Given the description of an element on the screen output the (x, y) to click on. 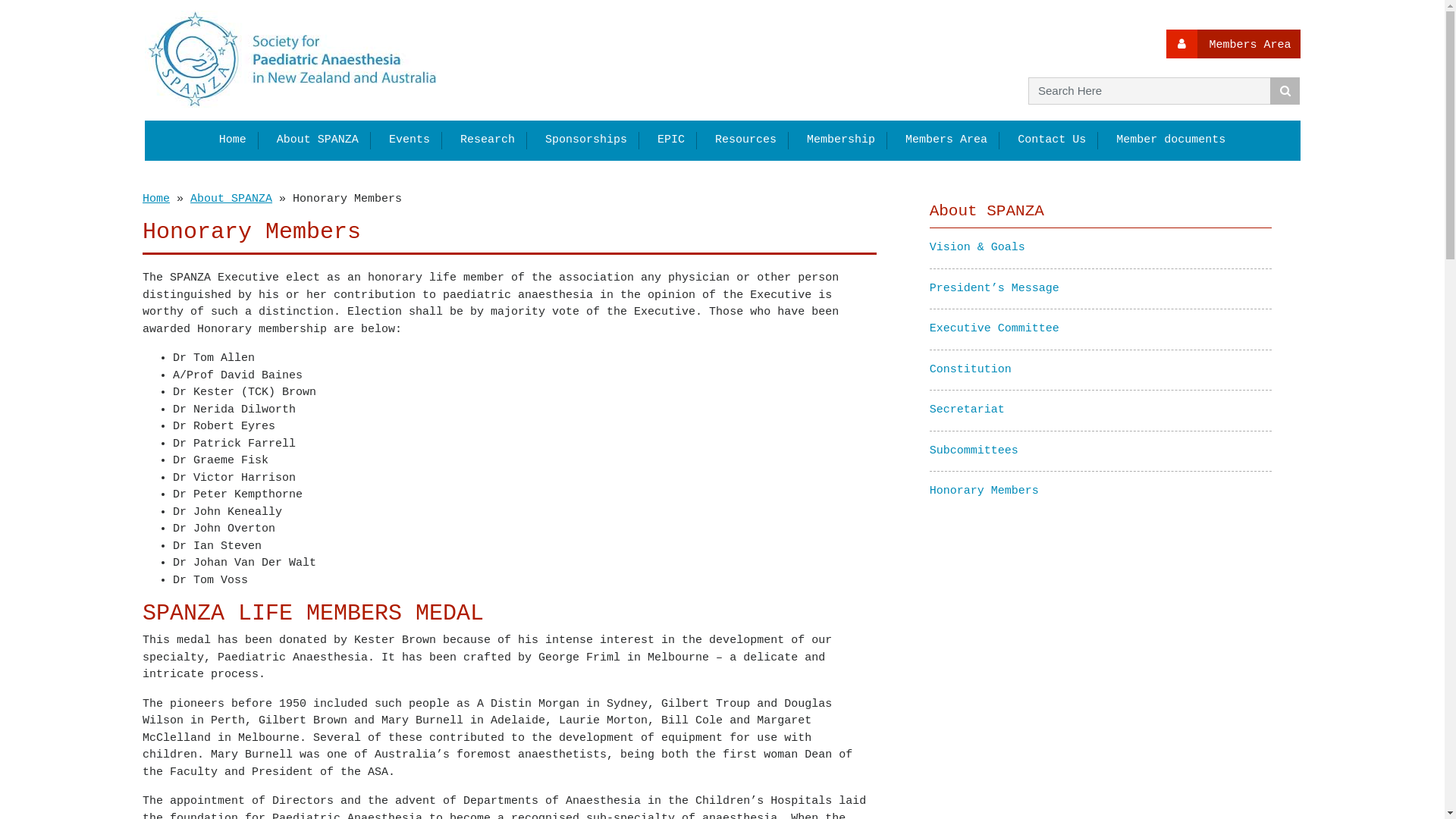
Member documents Element type: text (1170, 139)
Members Area Element type: text (1232, 43)
About SPANZA Element type: text (317, 139)
Sponsorships Element type: text (586, 139)
Vision & Goals Element type: text (977, 247)
EPIC Element type: text (670, 139)
Subcommittees Element type: text (973, 450)
Contact Us Element type: text (1051, 139)
Executive Committee Element type: text (994, 328)
Members Area Element type: text (946, 139)
Honorary Members Element type: text (983, 490)
Constitution Element type: text (970, 369)
Events Element type: text (409, 139)
Home Element type: text (155, 198)
Home Element type: text (232, 139)
Membership Element type: text (840, 139)
About SPANZA Element type: text (231, 198)
Secretariat Element type: text (966, 409)
Resources Element type: text (745, 139)
Research Element type: text (487, 139)
